Given the description of an element on the screen output the (x, y) to click on. 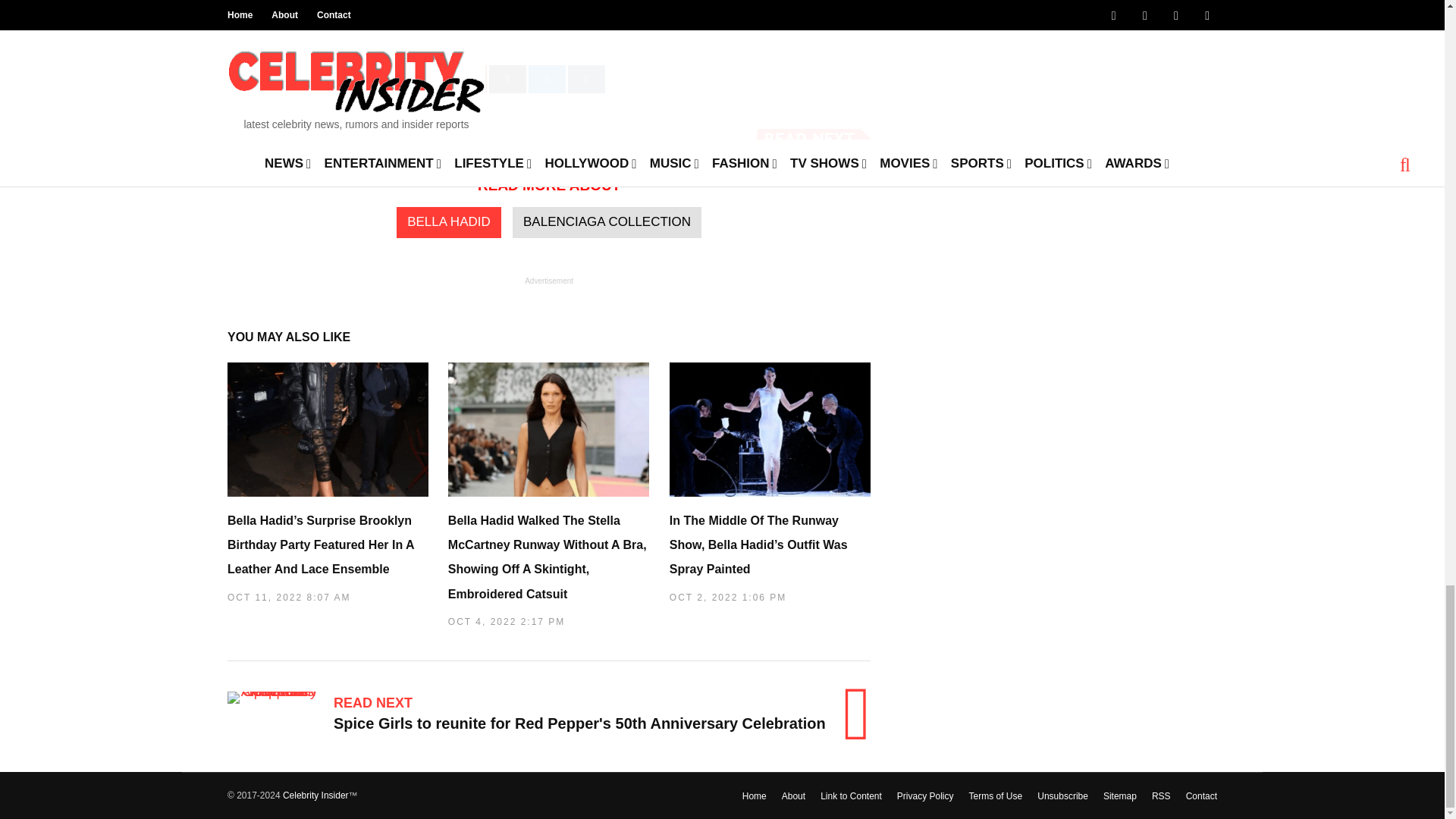
Share On Twitter (406, 79)
Share On Linkedin (547, 79)
Share On Pinterest (467, 79)
Share On Reddit (507, 79)
Share On Facebook (296, 79)
Share On Tumblr (586, 79)
